Given the description of an element on the screen output the (x, y) to click on. 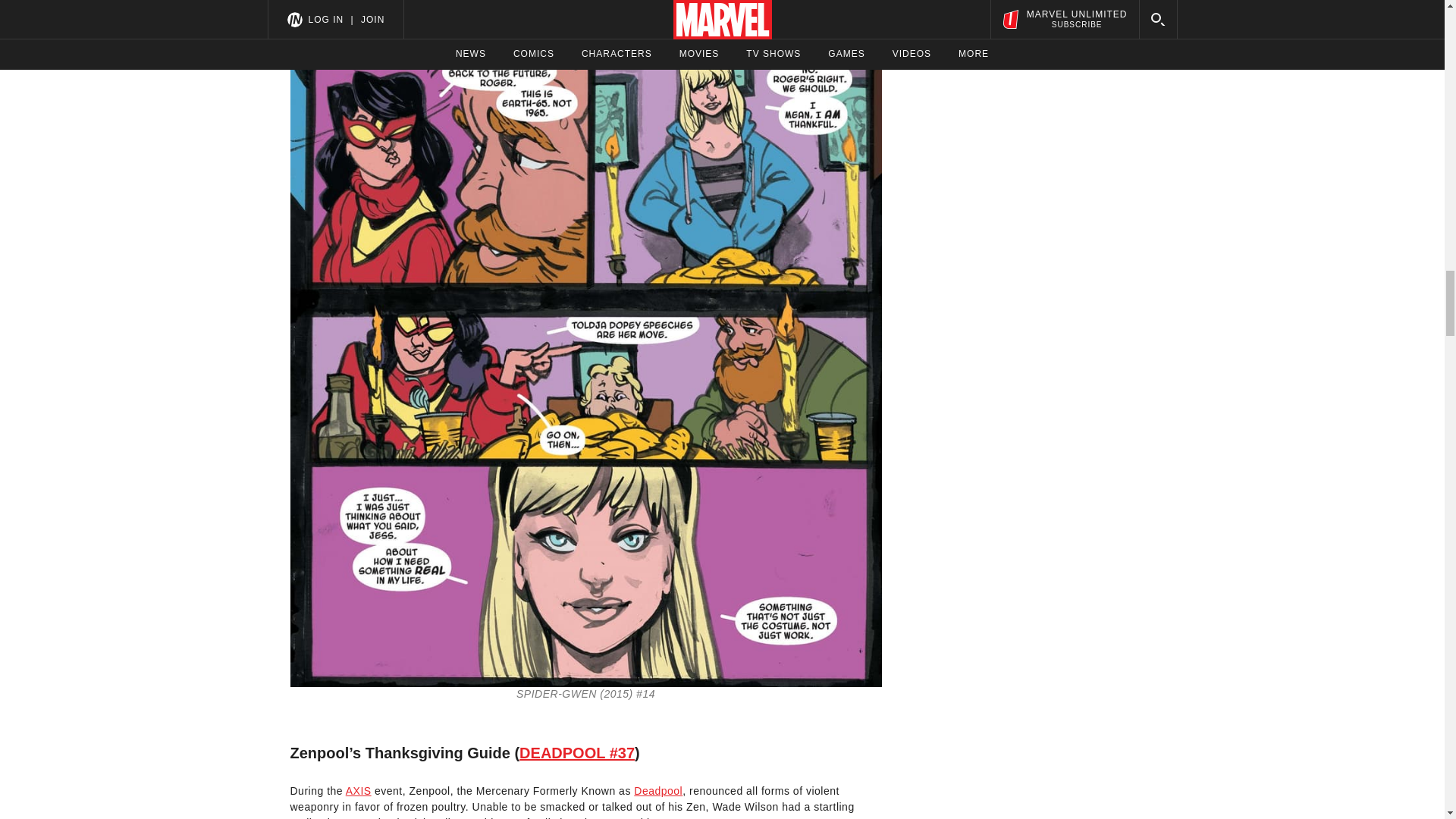
Deadpool (657, 790)
AXIS (358, 790)
